Given the description of an element on the screen output the (x, y) to click on. 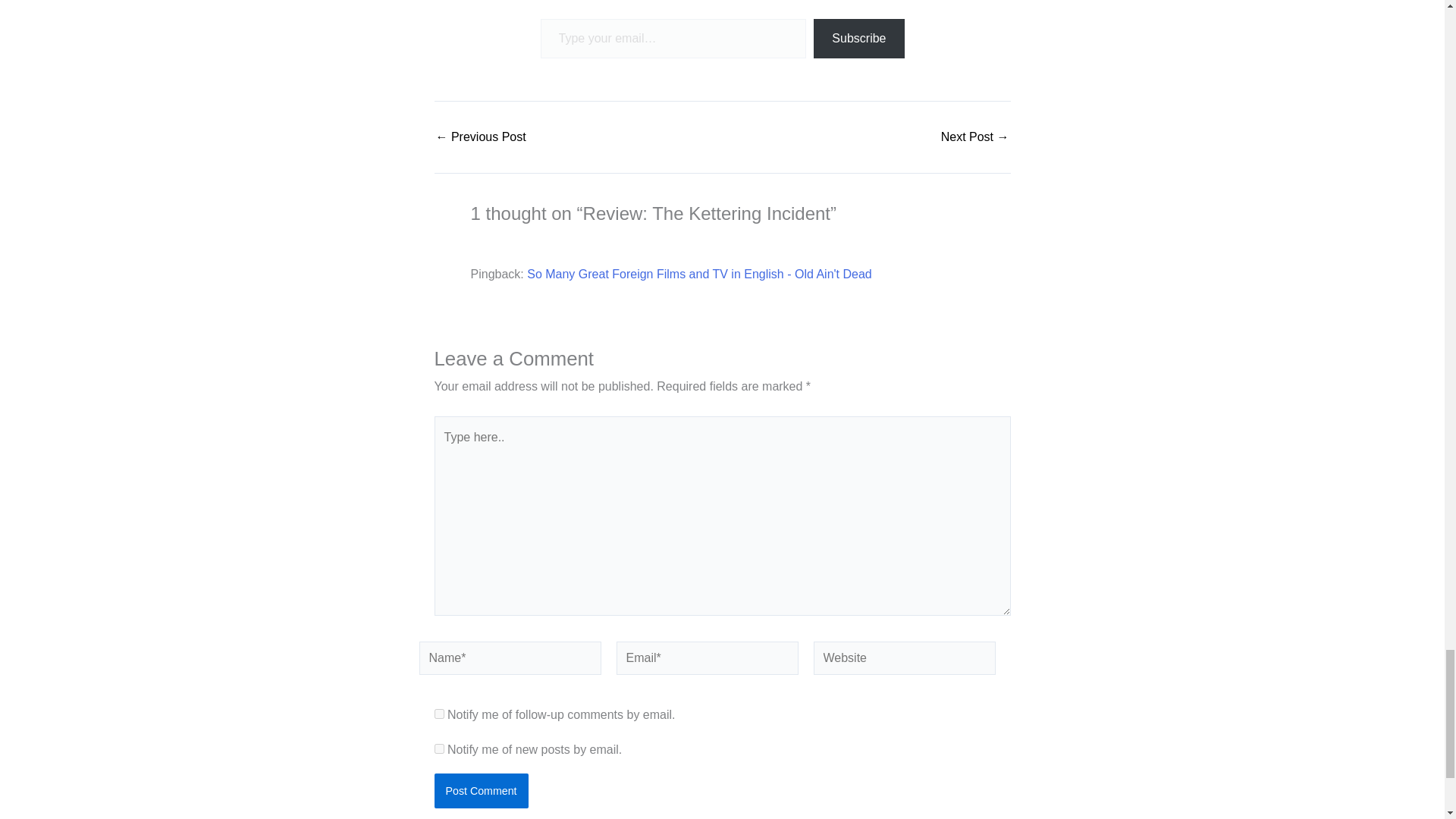
subscribe (438, 714)
Post Comment (480, 790)
subscribe (438, 748)
Please fill in this field. (673, 38)
Review: Songs My Brothers Taught Me (480, 137)
